Given the description of an element on the screen output the (x, y) to click on. 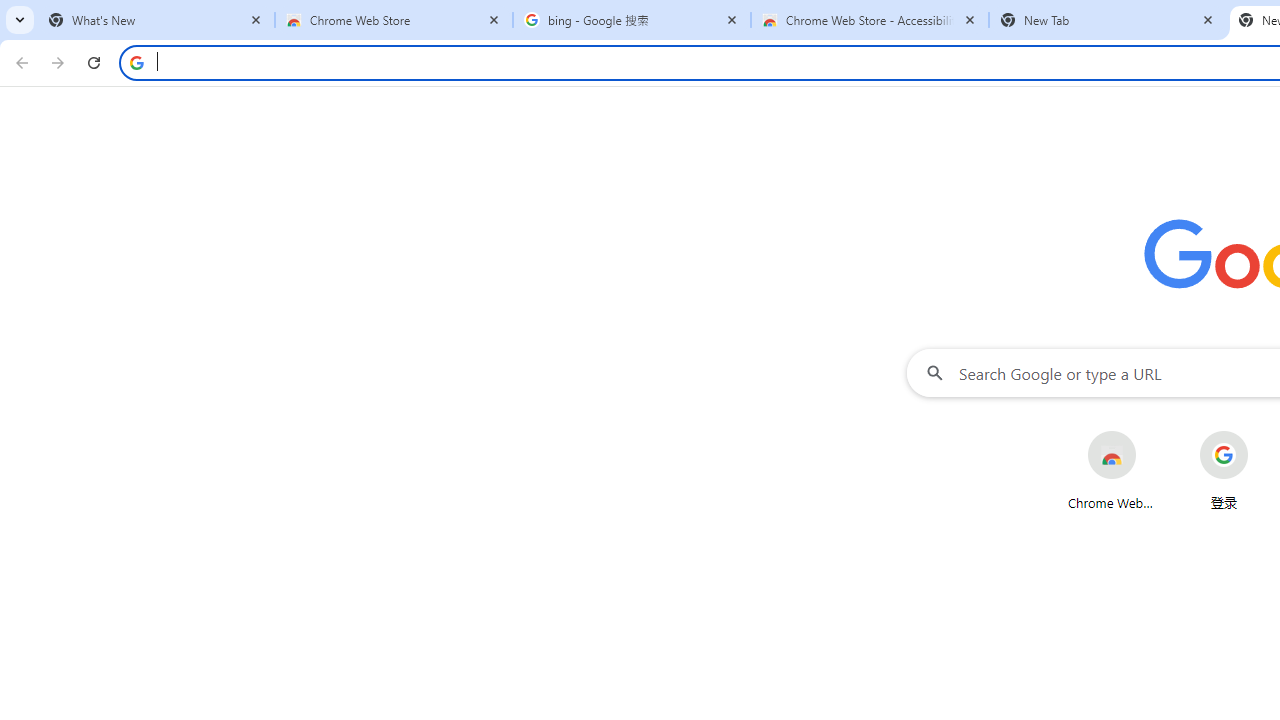
Back (19, 62)
Chrome Web Store (1111, 470)
Chrome Web Store - Accessibility (870, 20)
New Tab (1108, 20)
Search icon (136, 62)
Forward (57, 62)
More actions for Chrome Web Store shortcut (1151, 433)
Chrome Web Store (394, 20)
System (10, 11)
System (10, 11)
What's New (156, 20)
Close (1208, 19)
